Given the description of an element on the screen output the (x, y) to click on. 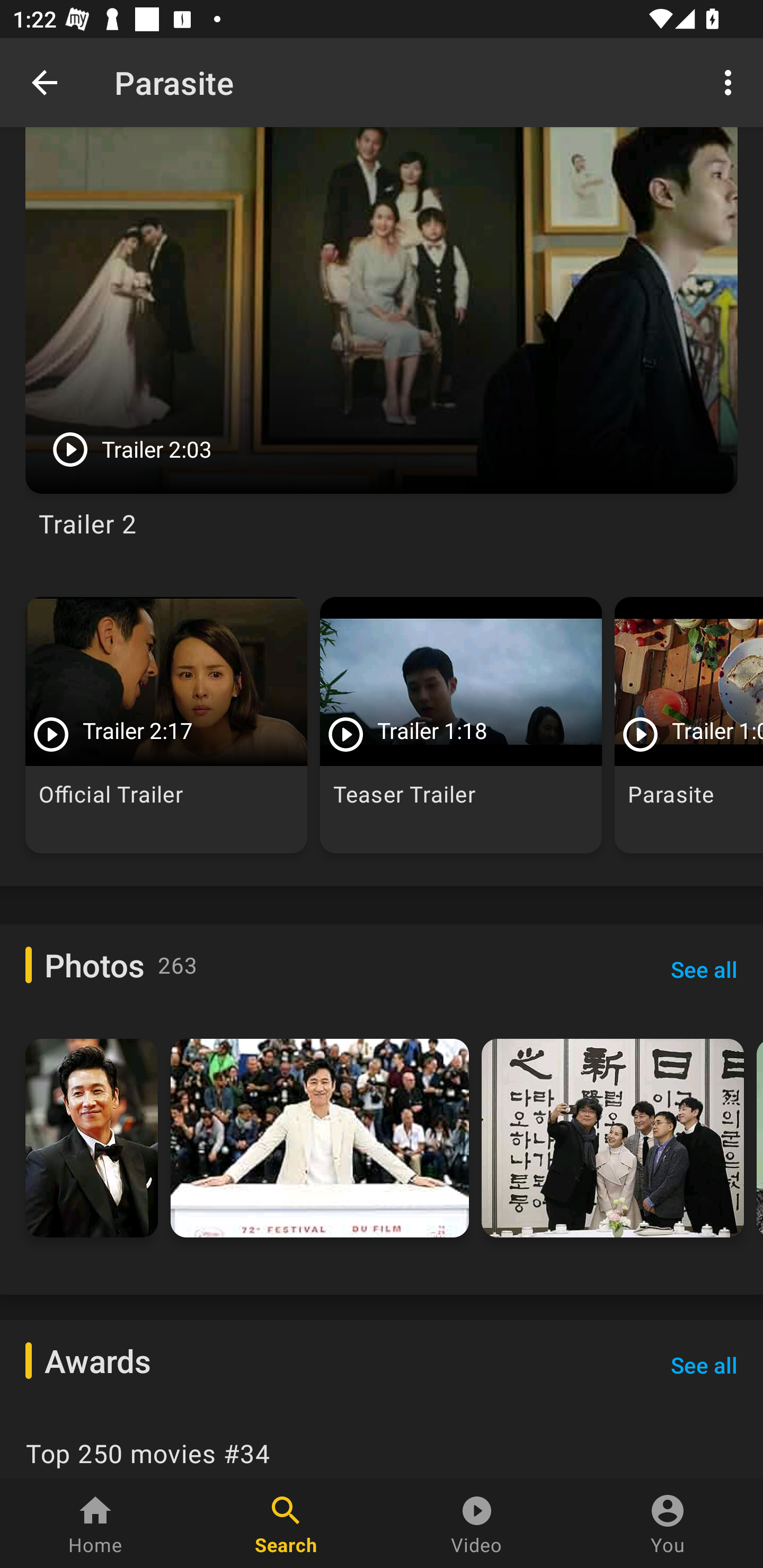
More options (731, 81)
Trailer 2:03 Trailer 2 (381, 352)
Trailer 2:17 Official Trailer (166, 724)
Trailer 1:18 Teaser Trailer (460, 724)
See all See all Photos (703, 969)
See all See all Awards (703, 1364)
Top 250 movies #34 (381, 1446)
Home (95, 1523)
Video (476, 1523)
You (667, 1523)
